Given the description of an element on the screen output the (x, y) to click on. 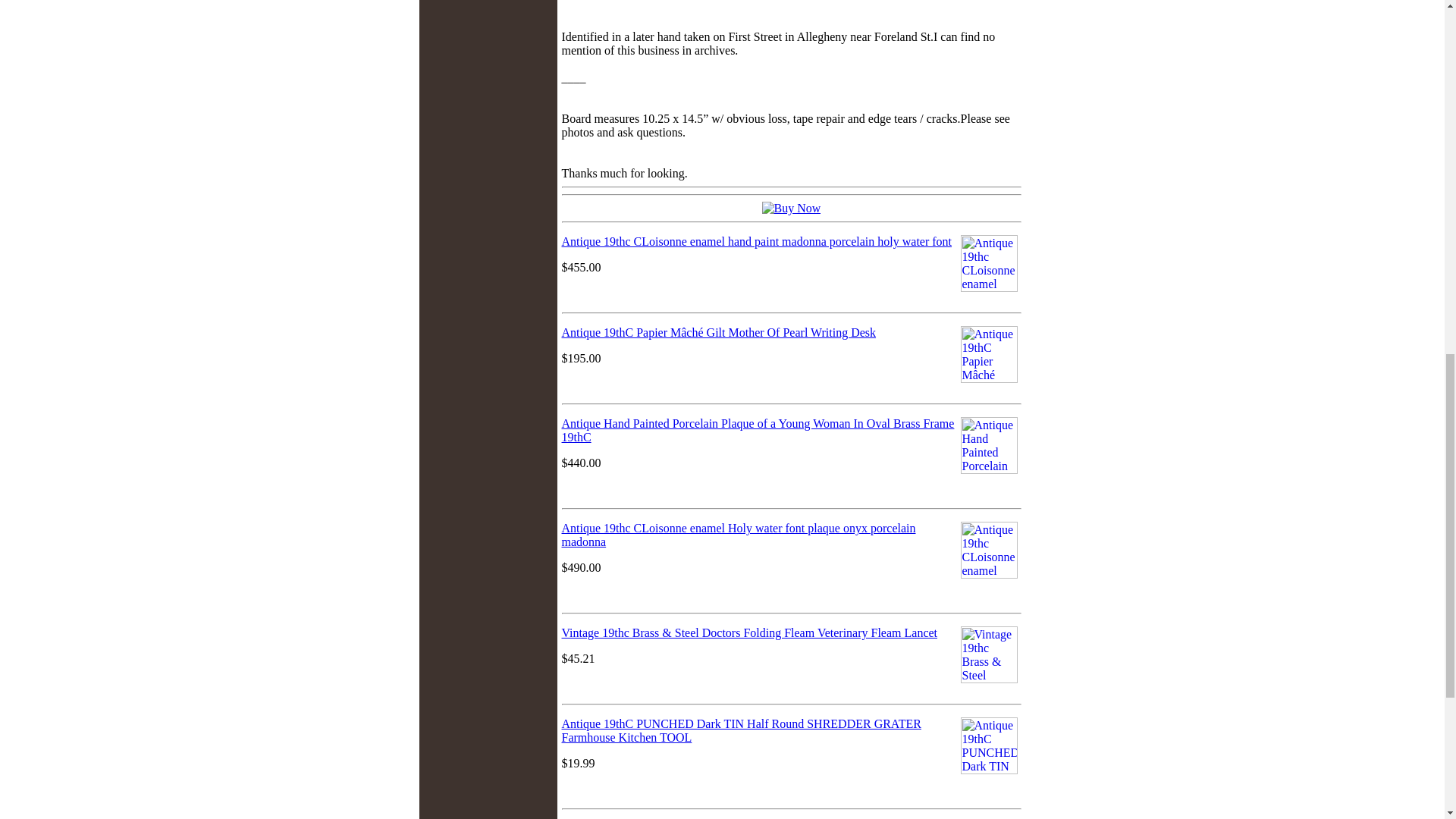
Buy Now (791, 208)
